Given the description of an element on the screen output the (x, y) to click on. 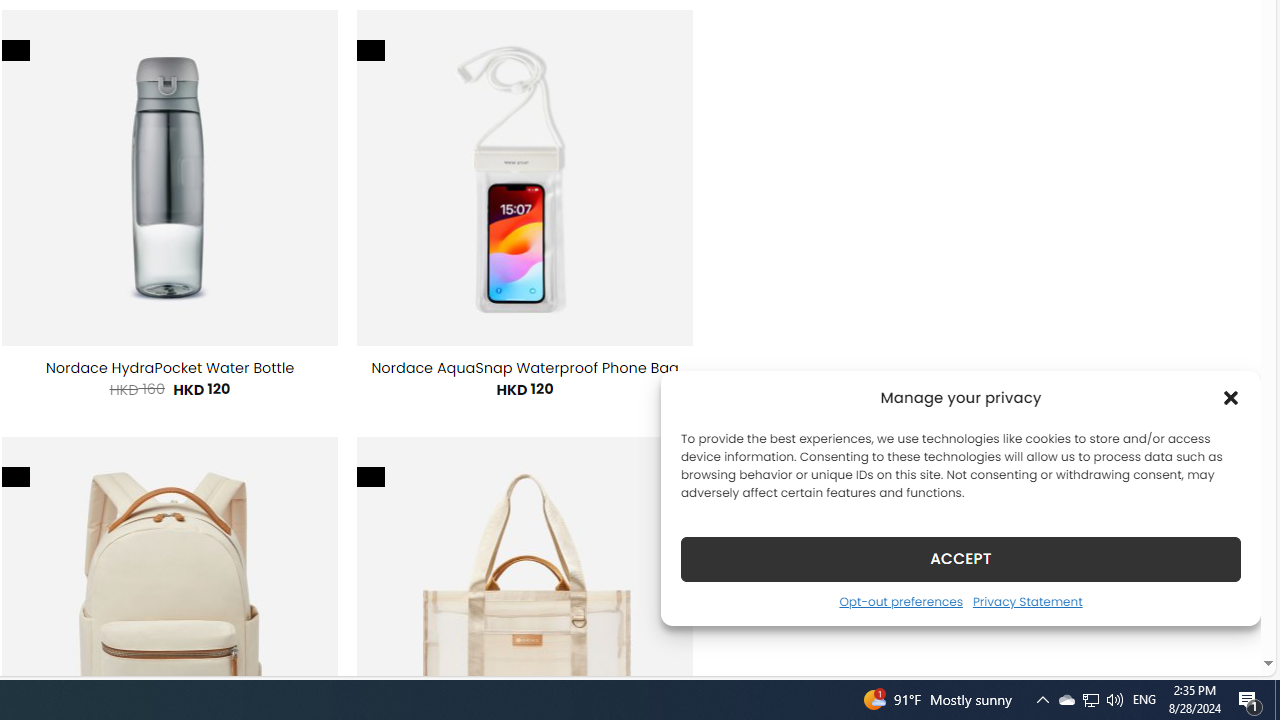
Privacy Statement (1026, 601)
ACCEPT (960, 558)
Class: cmplz-close (1231, 397)
Nordace AquaSnap Waterproof Phone Bag (524, 368)
Opt-out preferences (900, 601)
Nordace HydraPocket Water Bottle (169, 368)
